Given the description of an element on the screen output the (x, y) to click on. 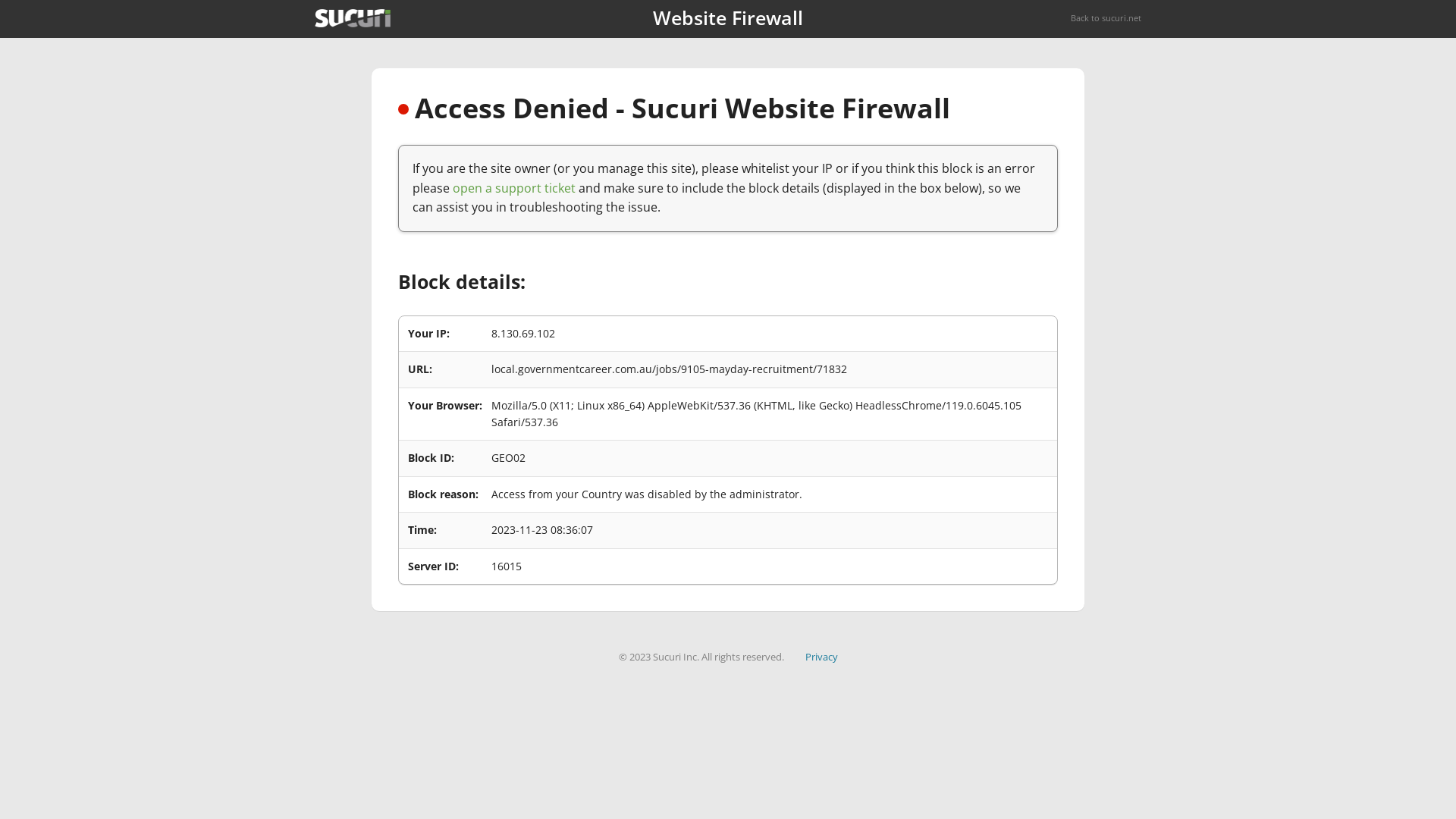
Back to sucuri.net Element type: text (1105, 18)
Privacy Element type: text (821, 656)
open a support ticket Element type: text (513, 187)
